Given the description of an element on the screen output the (x, y) to click on. 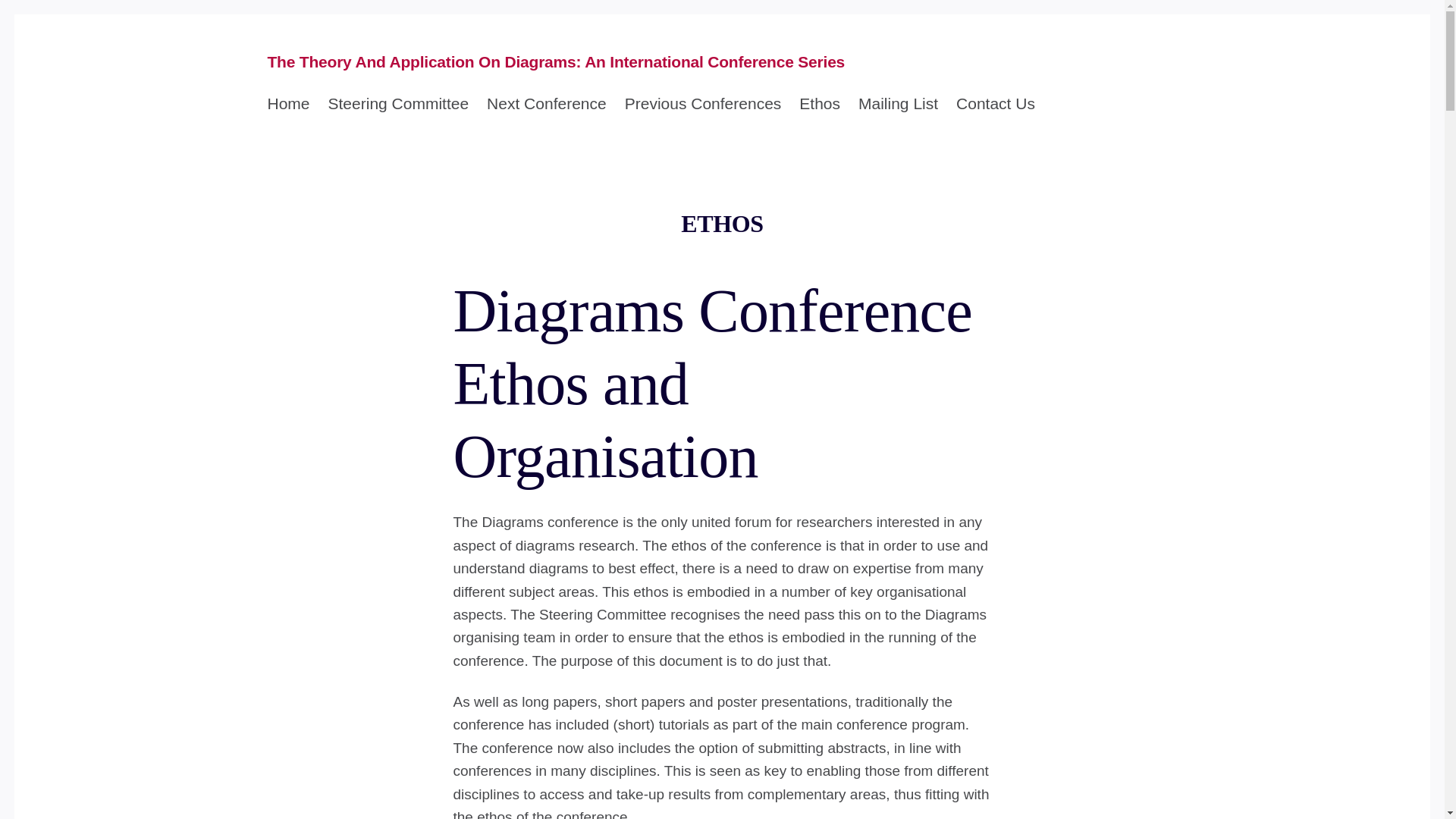
Ethos (819, 103)
Steering Committee (398, 103)
Next Conference (546, 103)
Contact Us (995, 103)
Mailing List (898, 103)
Previous Conferences (702, 103)
Home (287, 103)
